Given the description of an element on the screen output the (x, y) to click on. 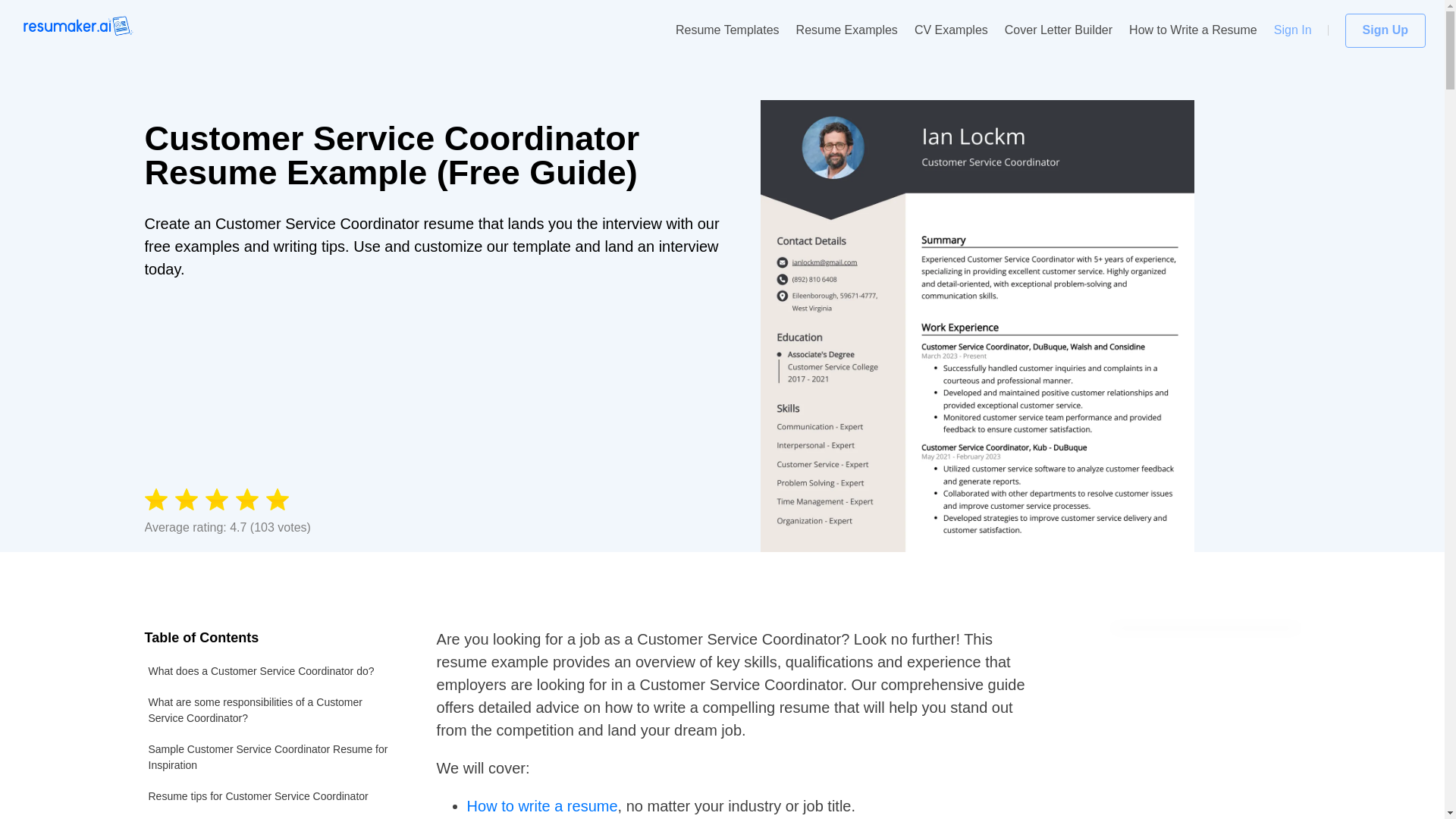
Customer Service Coordinator Resume Summary Examples (270, 815)
How to write a resume (542, 805)
Resume tips for Customer Service Coordinator (270, 796)
What does a Customer Service Coordinator do? (270, 671)
Cover Letter Builder (1058, 30)
How to Write a Resume (1193, 30)
Resume Examples (847, 30)
Sample Customer Service Coordinator Resume for Inspiration (270, 757)
CV Examples (951, 30)
Resume Templates (726, 30)
